Given the description of an element on the screen output the (x, y) to click on. 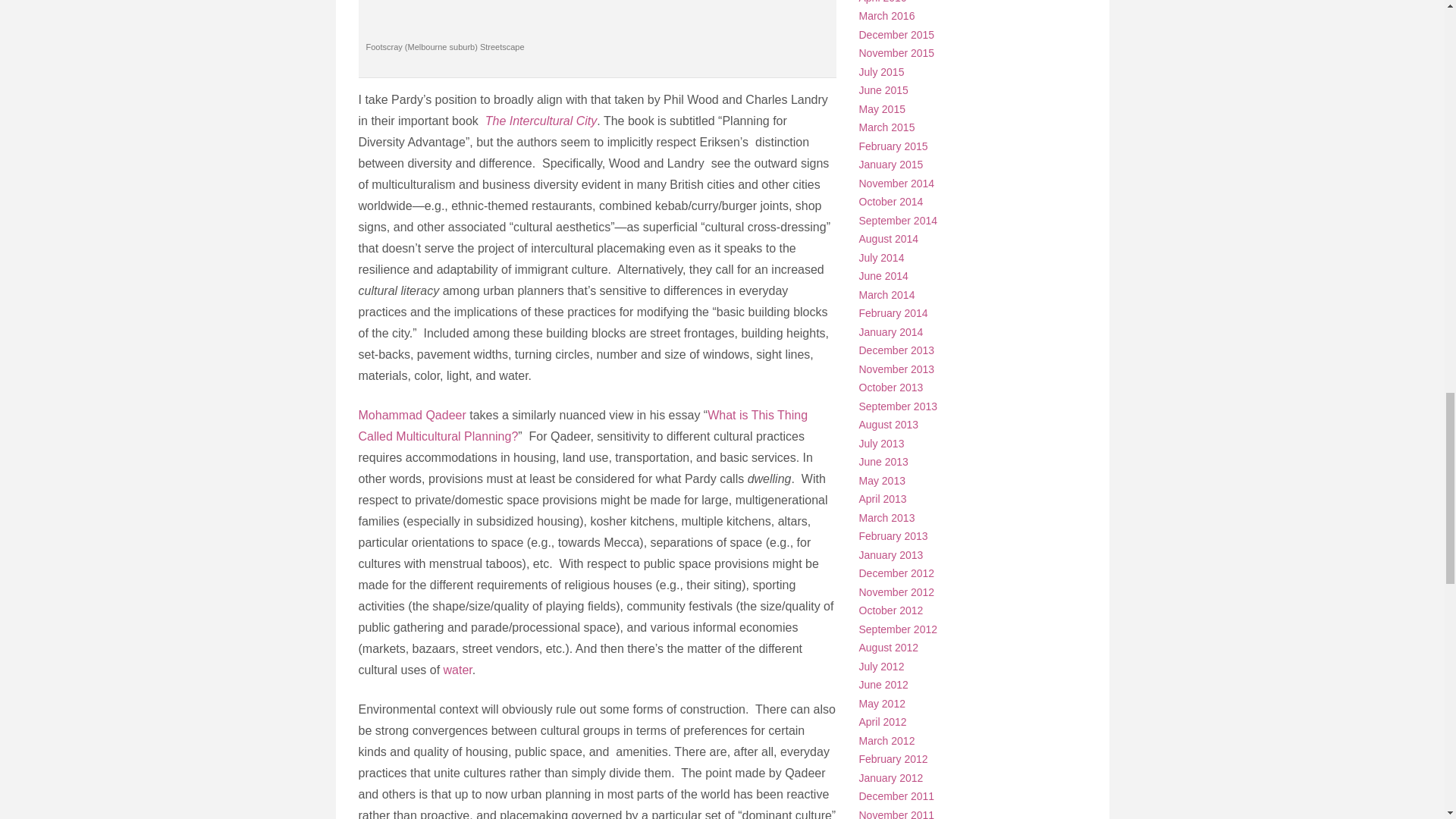
FootscrayStreetscape2 (596, 15)
water (457, 669)
What is This Thing Called Multicultural Planning? (583, 425)
The Intercultural City (540, 120)
Mohammad Qadeer (411, 414)
